Given the description of an element on the screen output the (x, y) to click on. 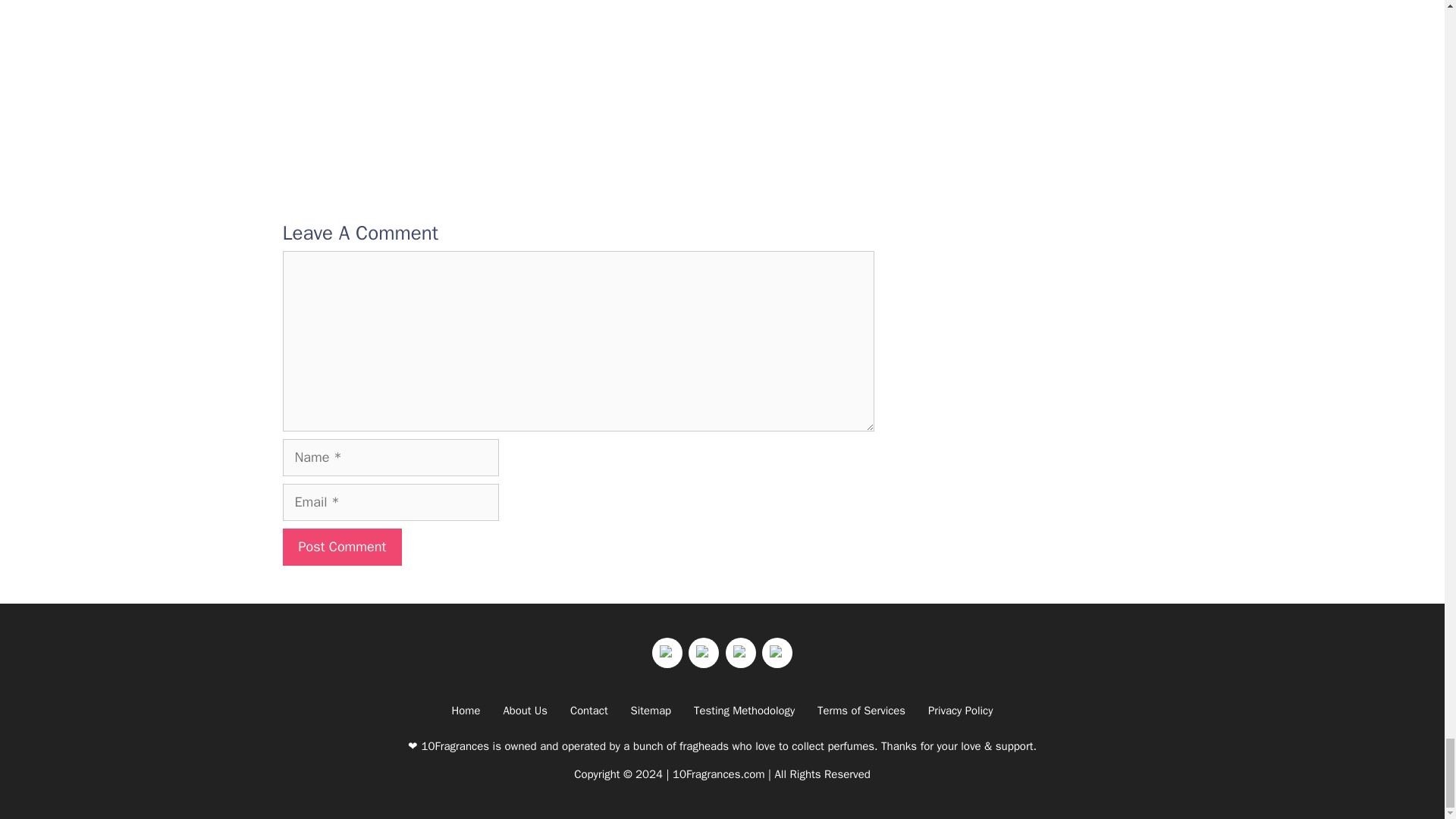
Facebook (667, 653)
Post Comment (341, 546)
Post Comment (341, 546)
Instagram (740, 653)
Pinterest (776, 653)
Twitter (703, 653)
